Given the description of an element on the screen output the (x, y) to click on. 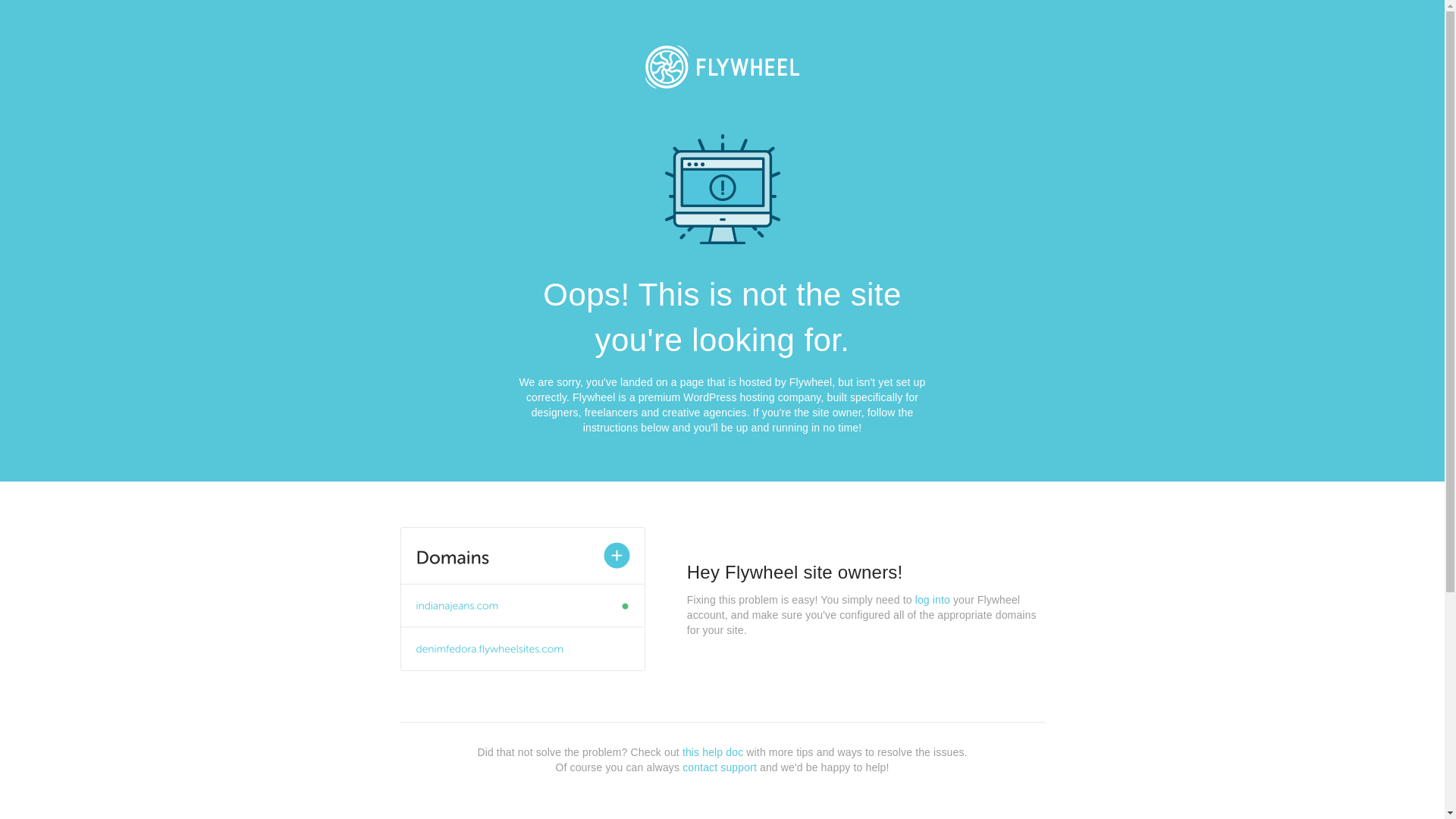
contact support (719, 767)
log into (932, 599)
this help doc (712, 752)
